Given the description of an element on the screen output the (x, y) to click on. 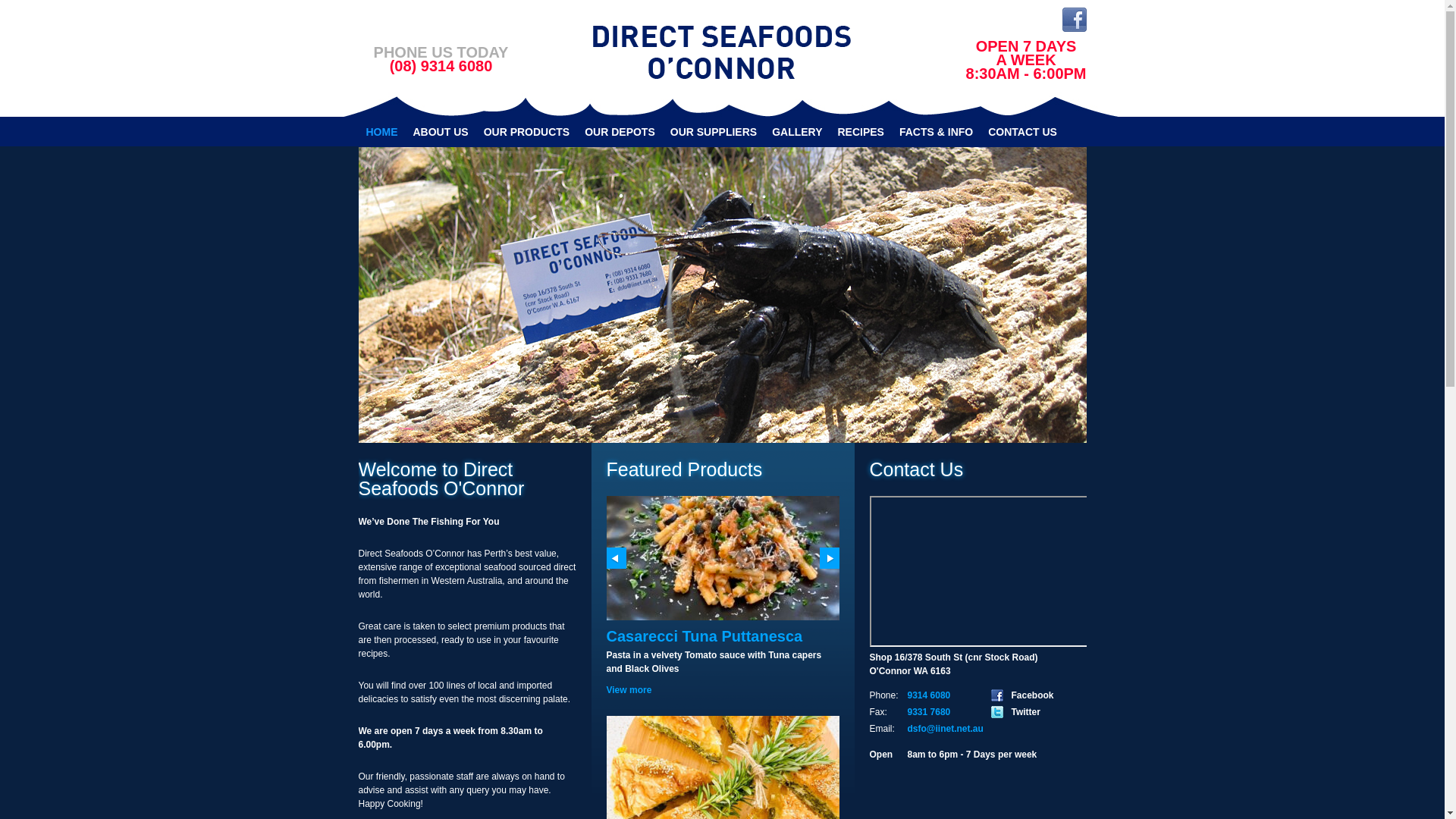
Casarecci Tuna Puttanesca Element type: text (704, 635)
FACTS & INFO Element type: text (935, 131)
GALLERY Element type: text (796, 131)
Facebook Element type: hover (1073, 24)
RECIPES Element type: text (860, 131)
Twitter Element type: text (1025, 711)
View more Element type: text (629, 689)
OUR SUPPLIERS Element type: text (713, 131)
Casarecci Tuna Puttanesca Element type: hover (722, 613)
ABOUT US Element type: text (439, 131)
OUR PRODUCTS Element type: text (526, 131)
CONTACT US Element type: text (1022, 131)
HOME Element type: text (380, 131)
Facebook Element type: hover (1073, 19)
OUR DEPOTS Element type: text (619, 131)
Facebook Element type: text (1032, 695)
